Given the description of an element on the screen output the (x, y) to click on. 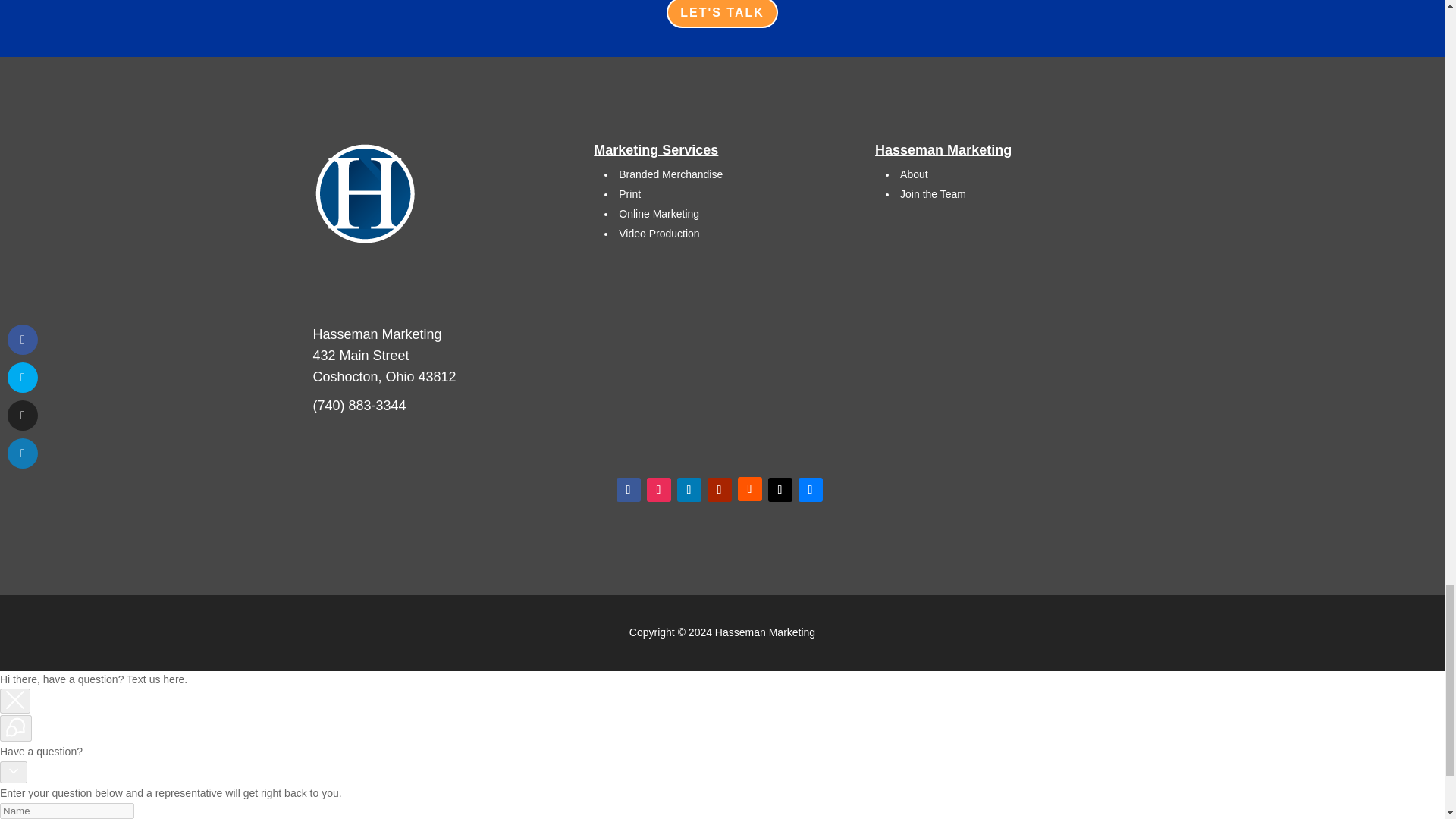
Follow on App Store (809, 489)
Follow on LinkedIn (688, 489)
Follow on Facebook (627, 489)
HM Logo No Text (366, 194)
Follow on Instagram (657, 489)
Follow on Youtube (718, 489)
Follow on SoundCloud (748, 488)
Follow on TikTok (779, 489)
